Given the description of an element on the screen output the (x, y) to click on. 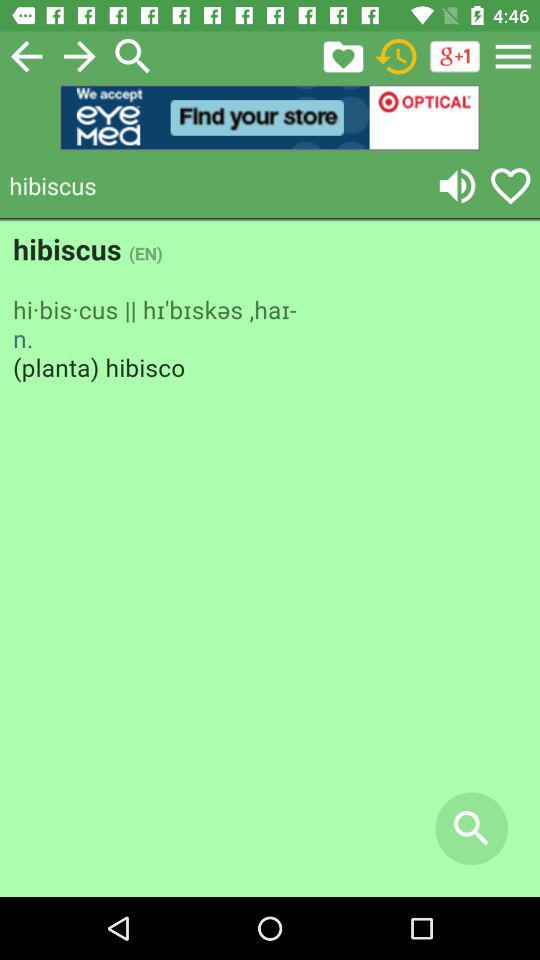
main menu (513, 56)
